Given the description of an element on the screen output the (x, y) to click on. 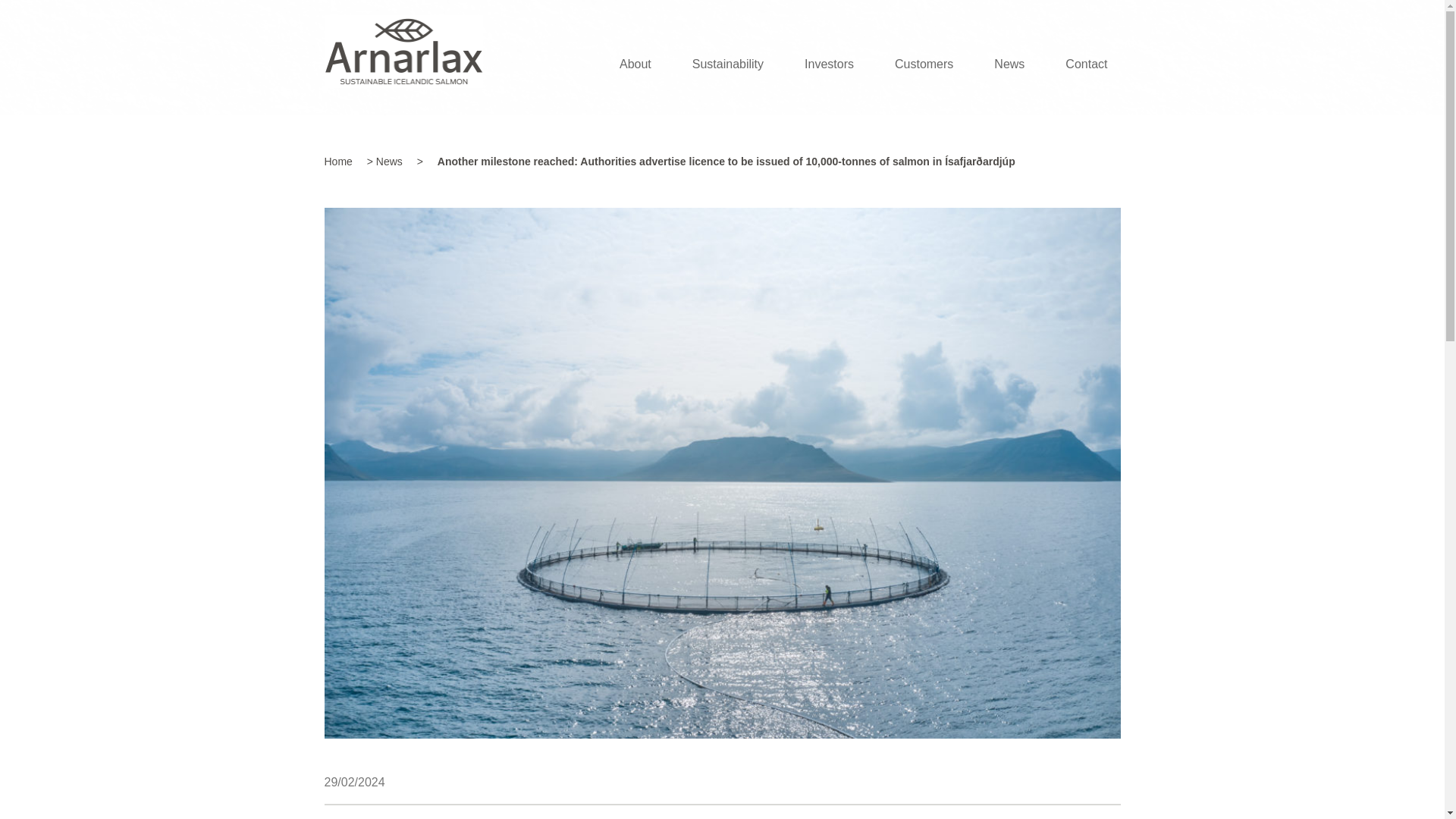
News (1008, 64)
Home (338, 161)
Investors (829, 64)
Customers (924, 64)
About (635, 64)
News (389, 161)
Sustainability (727, 64)
Contact (1085, 64)
Arnarlax (403, 66)
